Given the description of an element on the screen output the (x, y) to click on. 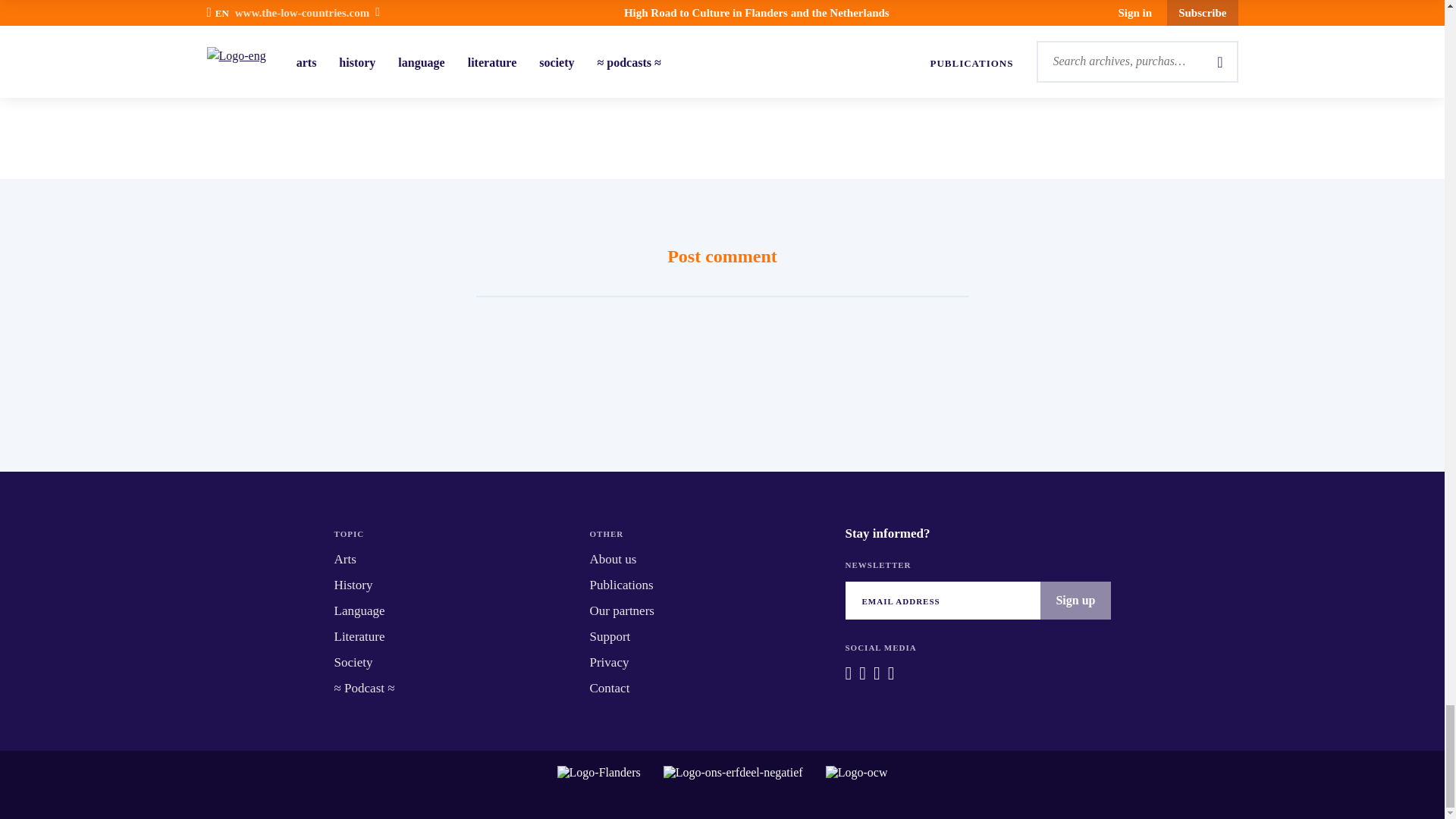
Logo-ocw (856, 784)
Logo-Flanders (598, 784)
Sign up (1075, 599)
Logo-ons-erfdeel-negatief (733, 784)
